Given the description of an element on the screen output the (x, y) to click on. 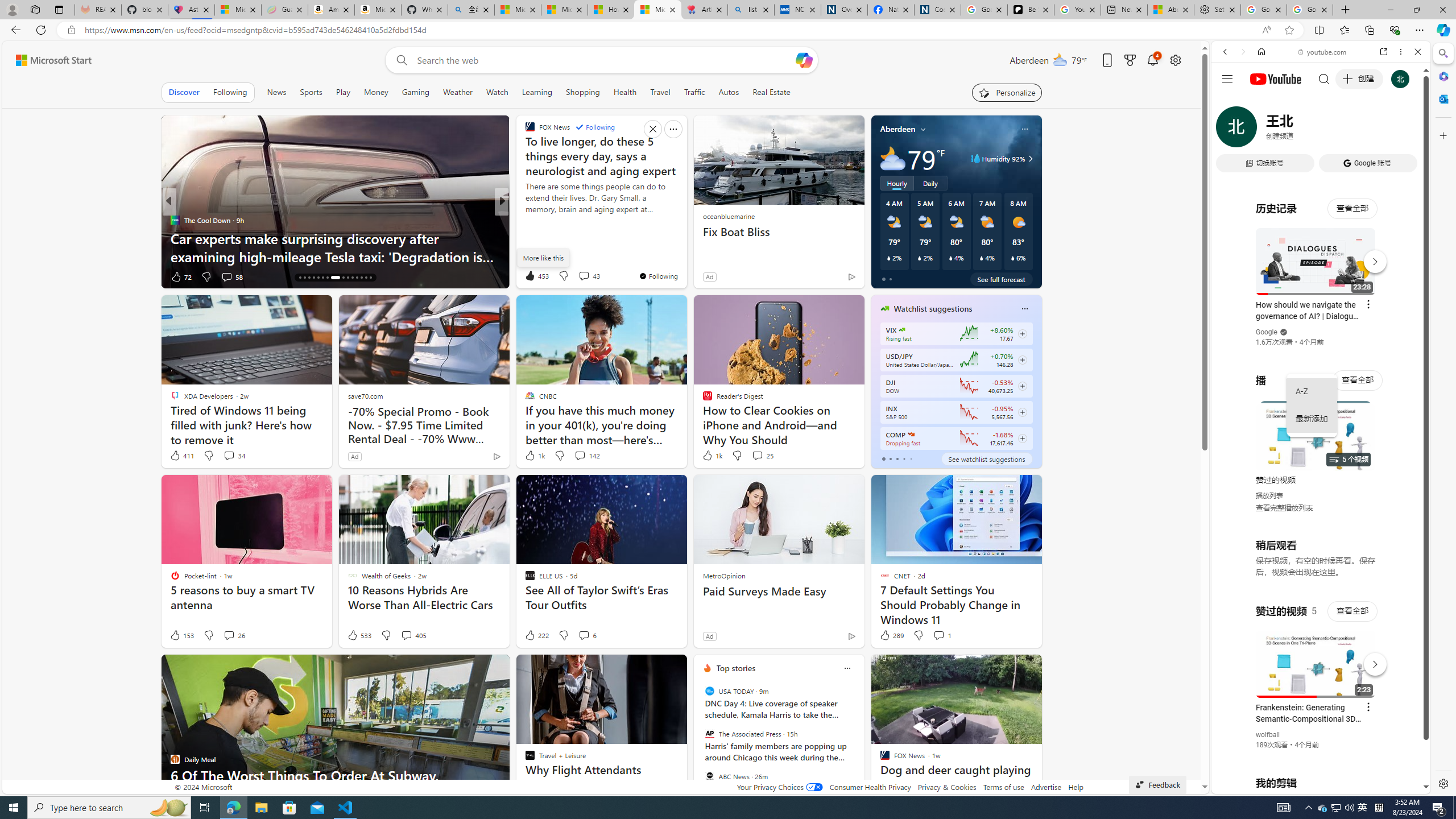
AutomationID: tab-16 (299, 277)
533 Like (358, 634)
AutomationID: tab-25 (347, 277)
My location (922, 128)
